Given the description of an element on the screen output the (x, y) to click on. 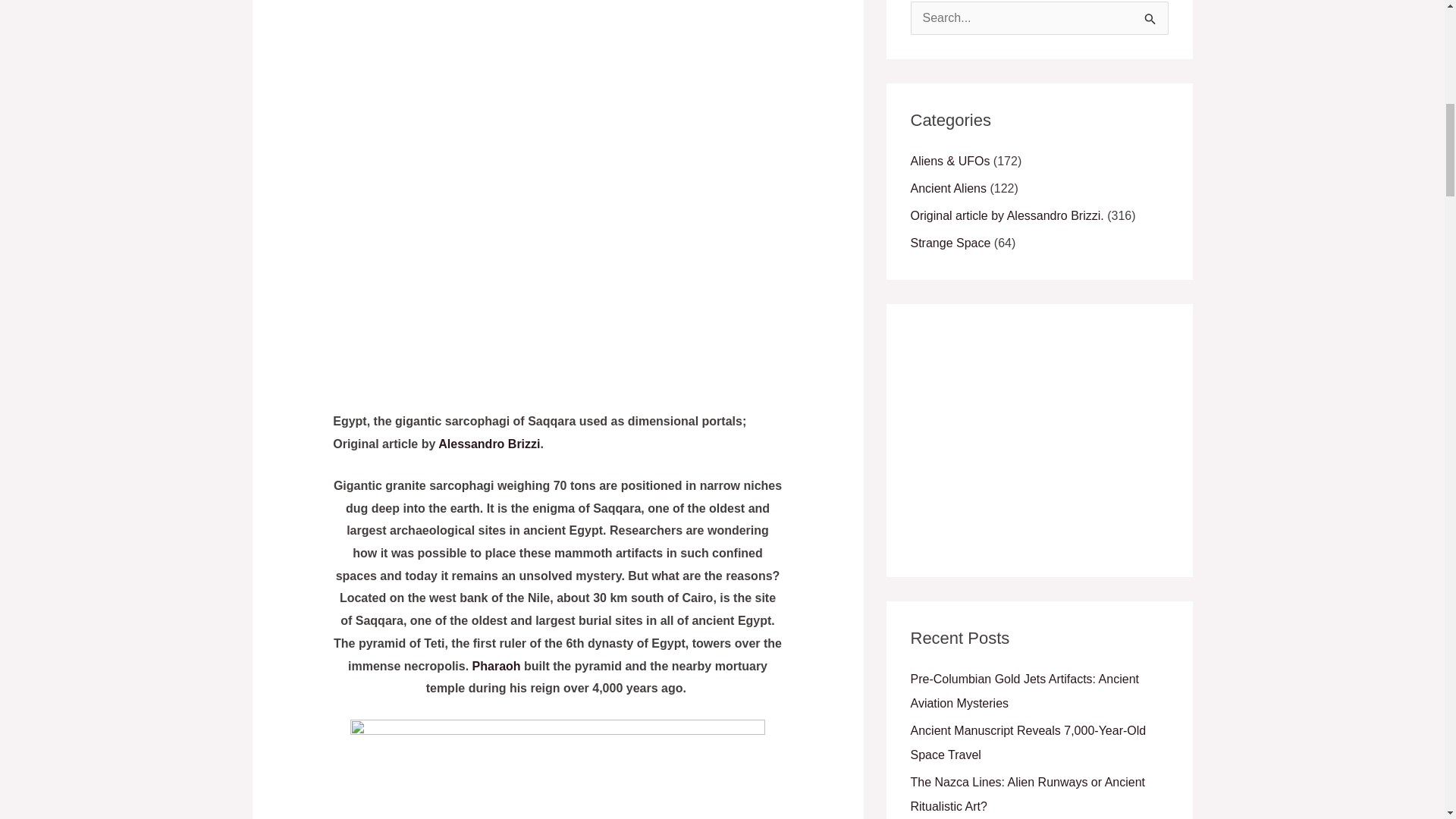
Pharaoh (496, 666)
Search (1151, 17)
Search (1151, 17)
Alessandro Brizzi (489, 443)
